Given the description of an element on the screen output the (x, y) to click on. 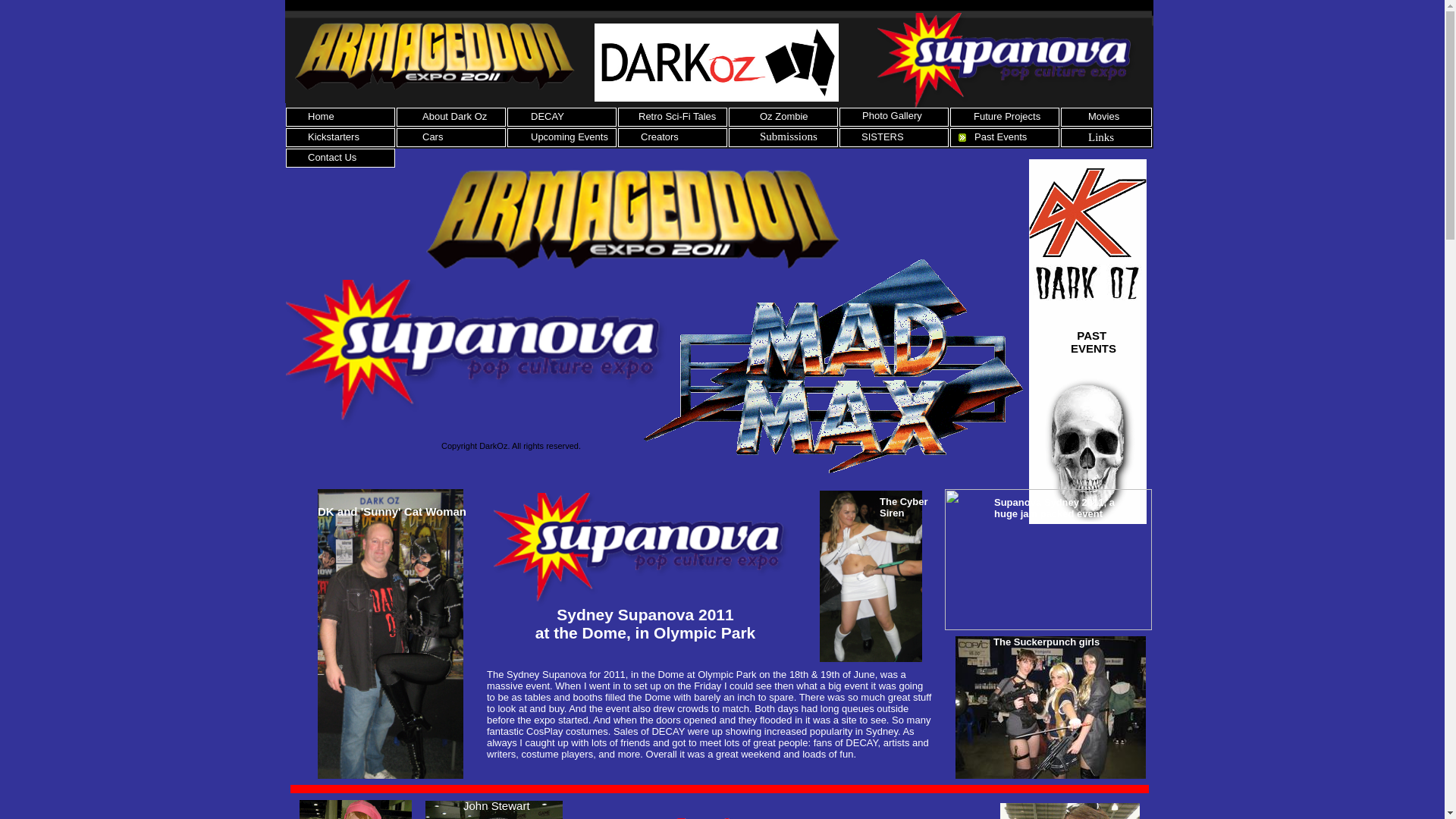
Oz Zombie Element type: text (783, 116)
Upcoming Events Element type: text (569, 136)
Contact Us Element type: text (331, 157)
Home Element type: text (320, 116)
DECAY Element type: text (547, 116)
Kickstarters Element type: text (333, 136)
Cars Element type: text (432, 136)
Submissions Element type: text (788, 136)
Links Element type: text (1100, 137)
About Dark Oz Element type: text (454, 116)
Movies Element type: text (1103, 116)
Retro Sci-Fi Tales Element type: text (676, 116)
Photo Gallery Element type: text (892, 115)
Creators Element type: text (659, 136)
Past Events Element type: text (1000, 136)
SISTERS Element type: text (882, 136)
Future Projects Element type: text (1006, 116)
